Given the description of an element on the screen output the (x, y) to click on. 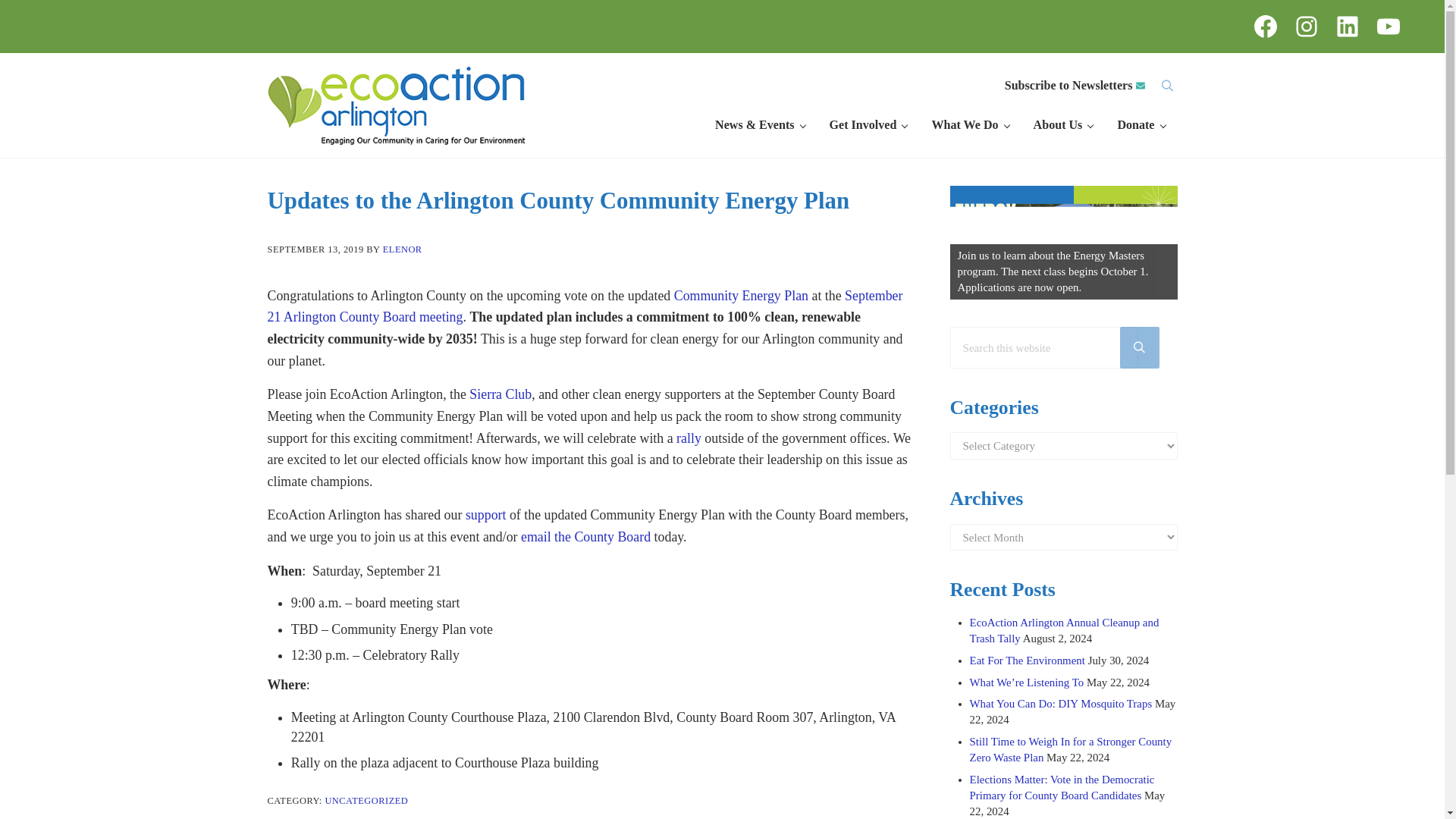
EM-HH-WebBanner (1062, 242)
YouTube (1388, 25)
Get Involved (868, 124)
Facebook (1264, 25)
What We Do (969, 124)
Instagram (1305, 25)
LinkedIn (1347, 25)
Subscribe to Newsletters  (1074, 85)
